Given the description of an element on the screen output the (x, y) to click on. 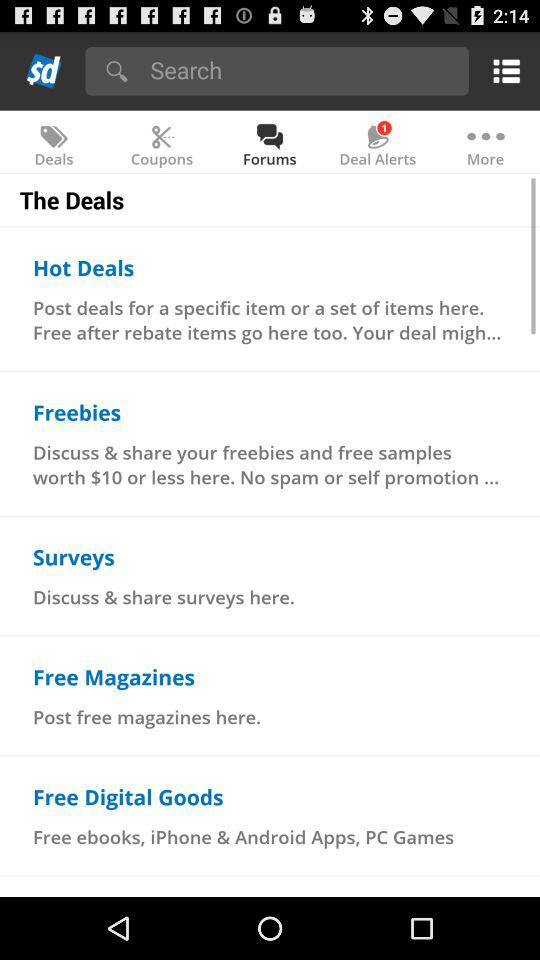
select the post deals for item (270, 319)
